Given the description of an element on the screen output the (x, y) to click on. 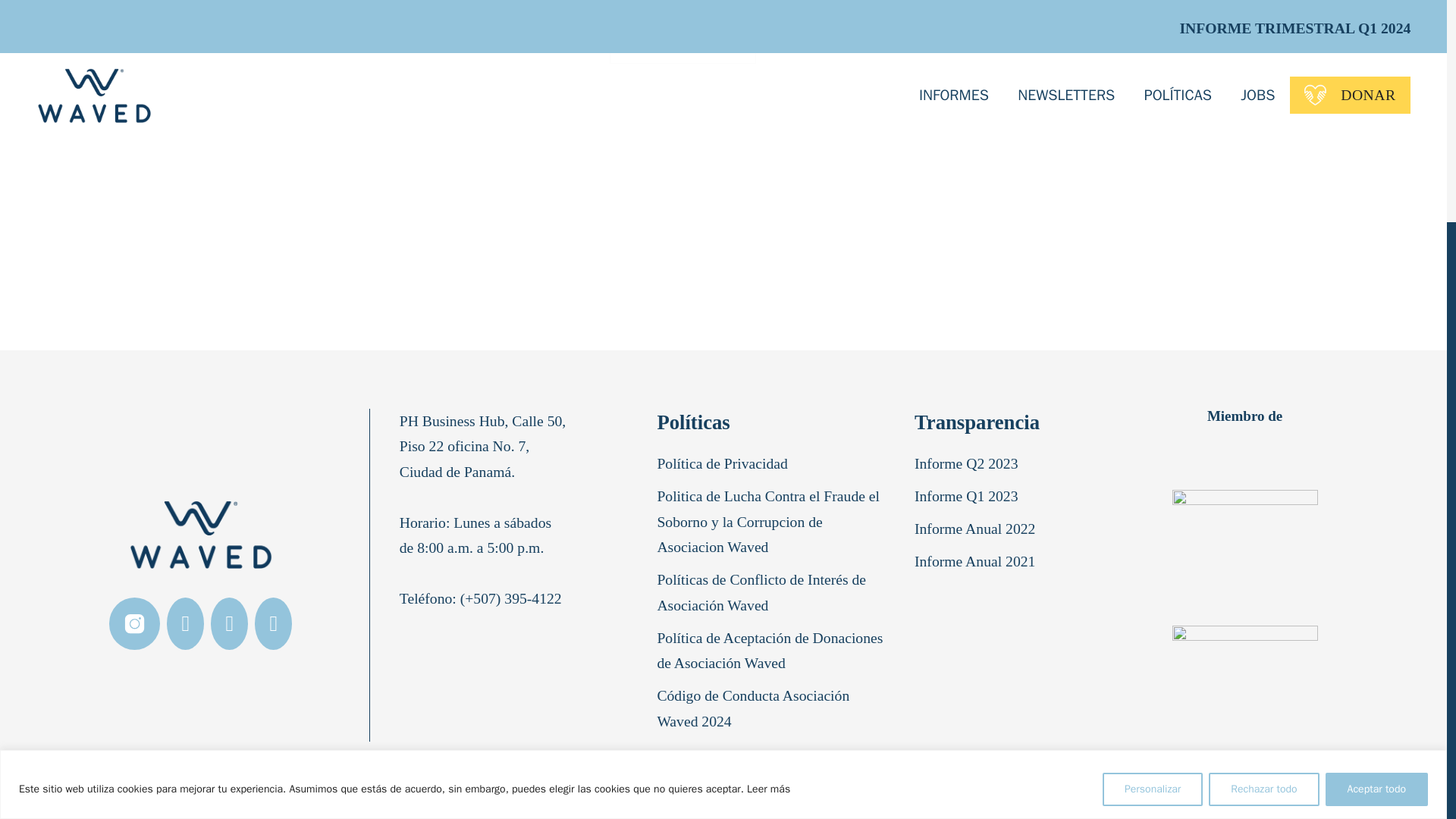
Personalizar (1152, 483)
Rechazar todo (1263, 483)
Aceptar todo (1376, 483)
Informe Q2 2023 (969, 467)
Informe Q1 2023 (969, 500)
